Given the description of an element on the screen output the (x, y) to click on. 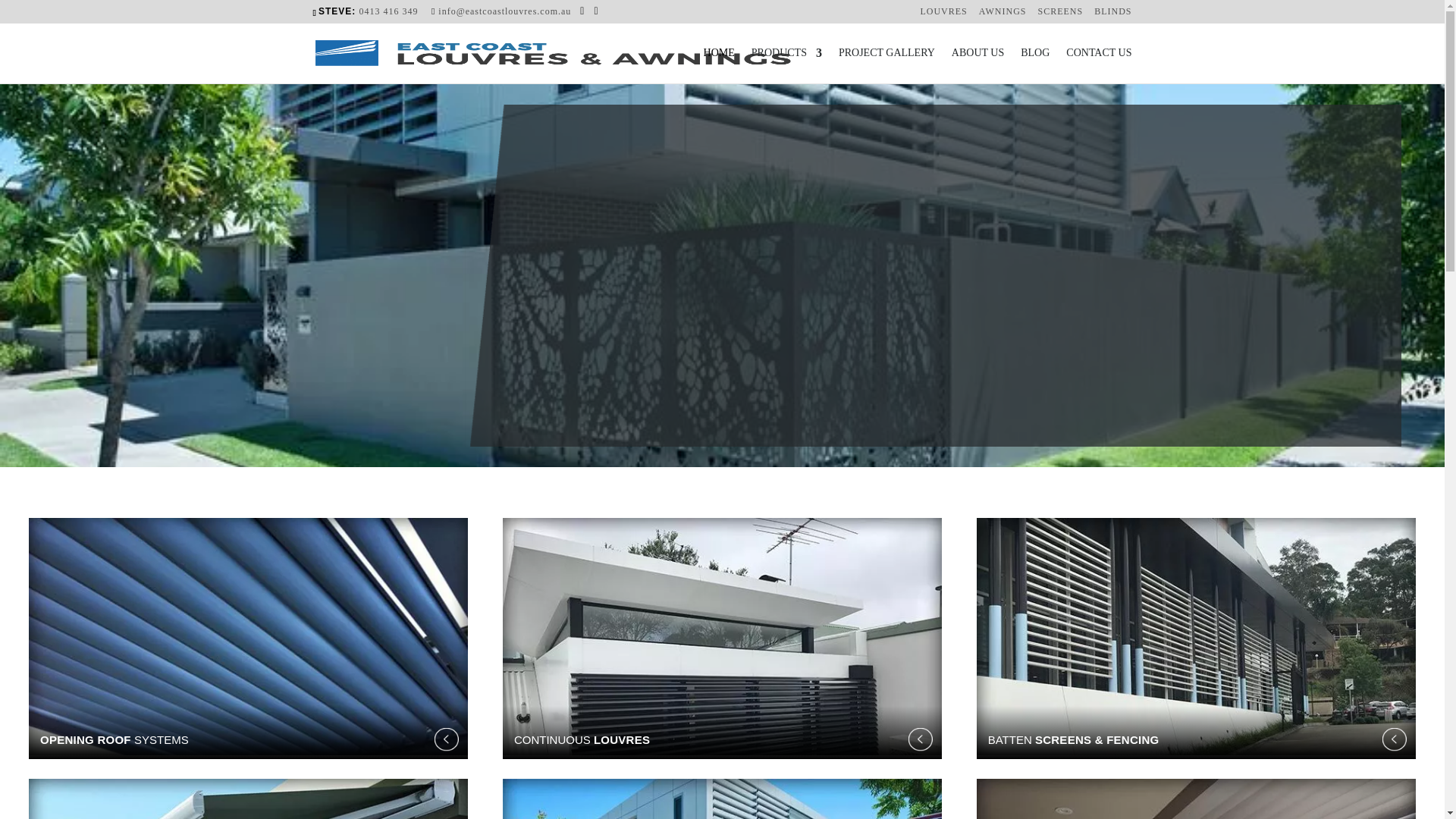
ABOUT US Element type: text (977, 65)
info@eastcoastlouvres.com.au Element type: text (501, 11)
PROJECT GALLERY Element type: text (886, 65)
BLOG Element type: text (1034, 65)
0413 416 349 Element type: text (388, 11)
PRODUCTS Element type: text (786, 65)
BLINDS Element type: text (1112, 14)
CONTACT US Element type: text (1098, 65)
OPENING ROOF SYSTEMS Element type: text (247, 732)
CONTINUOUS LOUVRES Element type: text (721, 732)
AWNINGS Element type: text (1002, 14)
SCREENS Element type: text (1059, 14)
BATTEN SCREENS & FENCING Element type: text (1195, 732)
HOME Element type: text (718, 65)
LOUVRES Element type: text (942, 14)
